Given the description of an element on the screen output the (x, y) to click on. 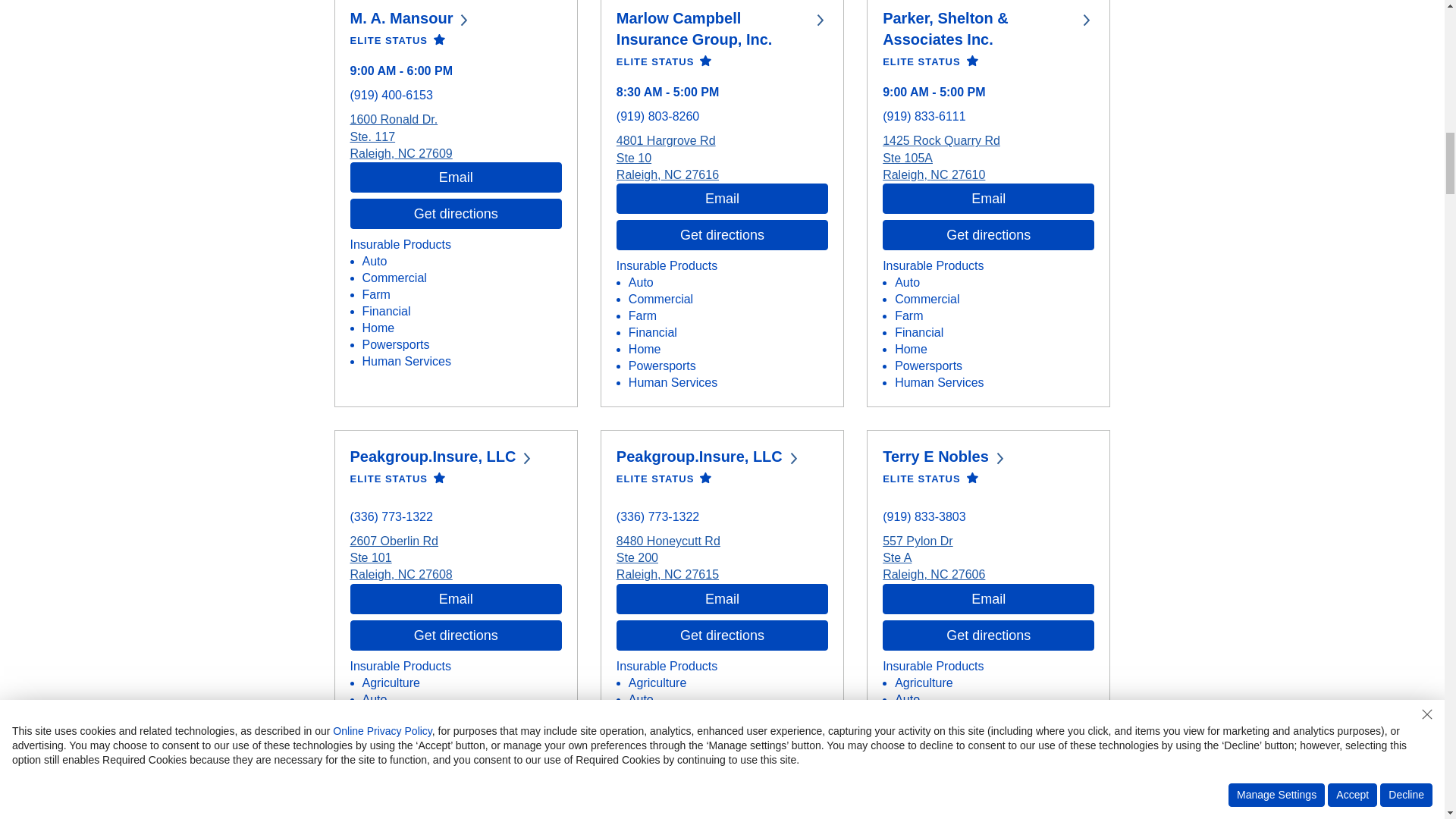
North Carolina (405, 153)
